Given the description of an element on the screen output the (x, y) to click on. 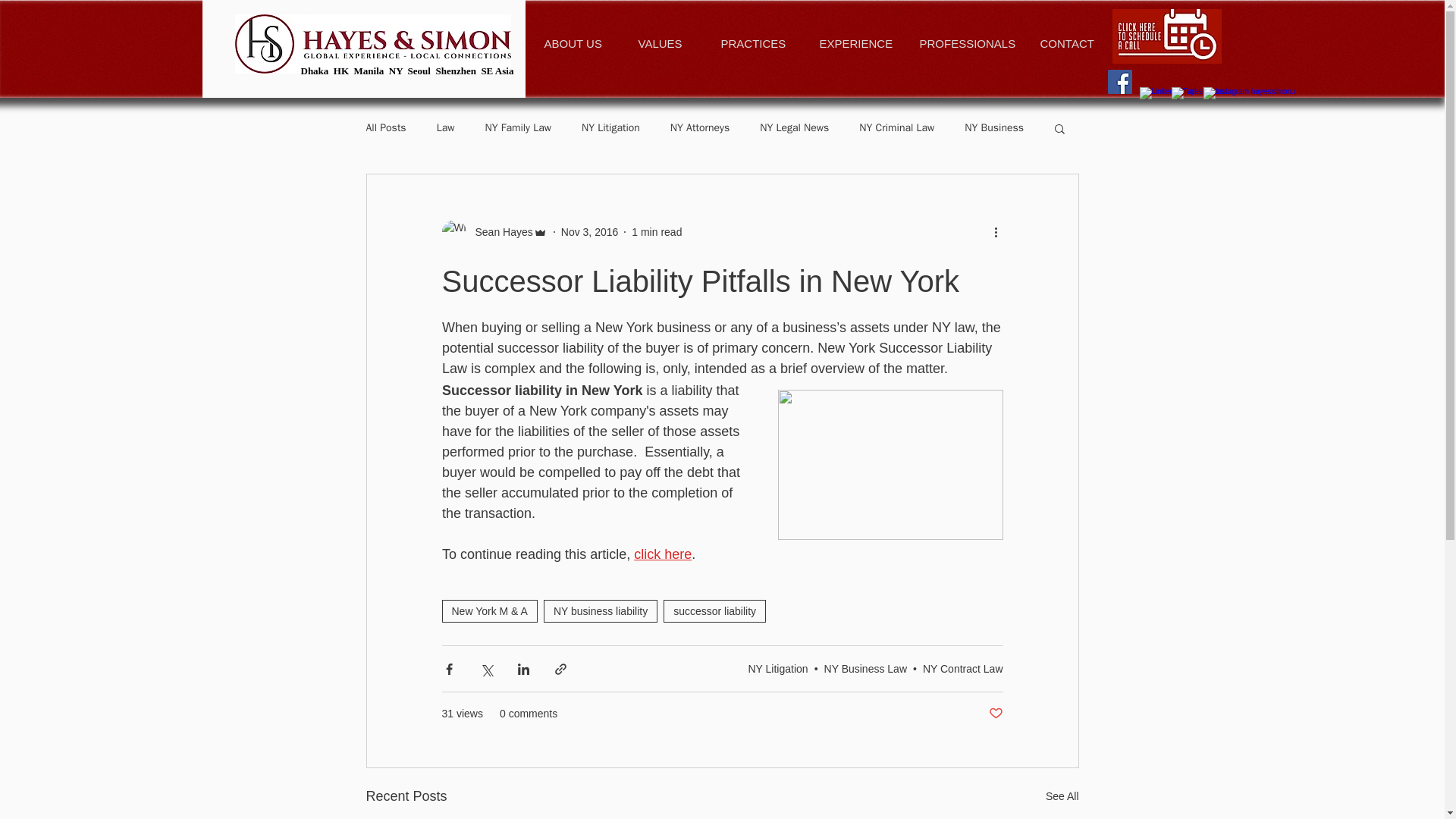
NY Criminal Law (896, 128)
NY Family Law (517, 128)
NY Attorneys (699, 128)
Law (445, 128)
PROFESSIONALS (961, 43)
EXPERIENCE (850, 43)
NY Business (993, 128)
CONTACT (1065, 43)
Nov 3, 2016 (589, 232)
NY Legal News (794, 128)
Sean Hayes (498, 232)
VALUES (659, 43)
1 min read (656, 232)
All Posts (385, 128)
NY Litigation (610, 128)
